Given the description of an element on the screen output the (x, y) to click on. 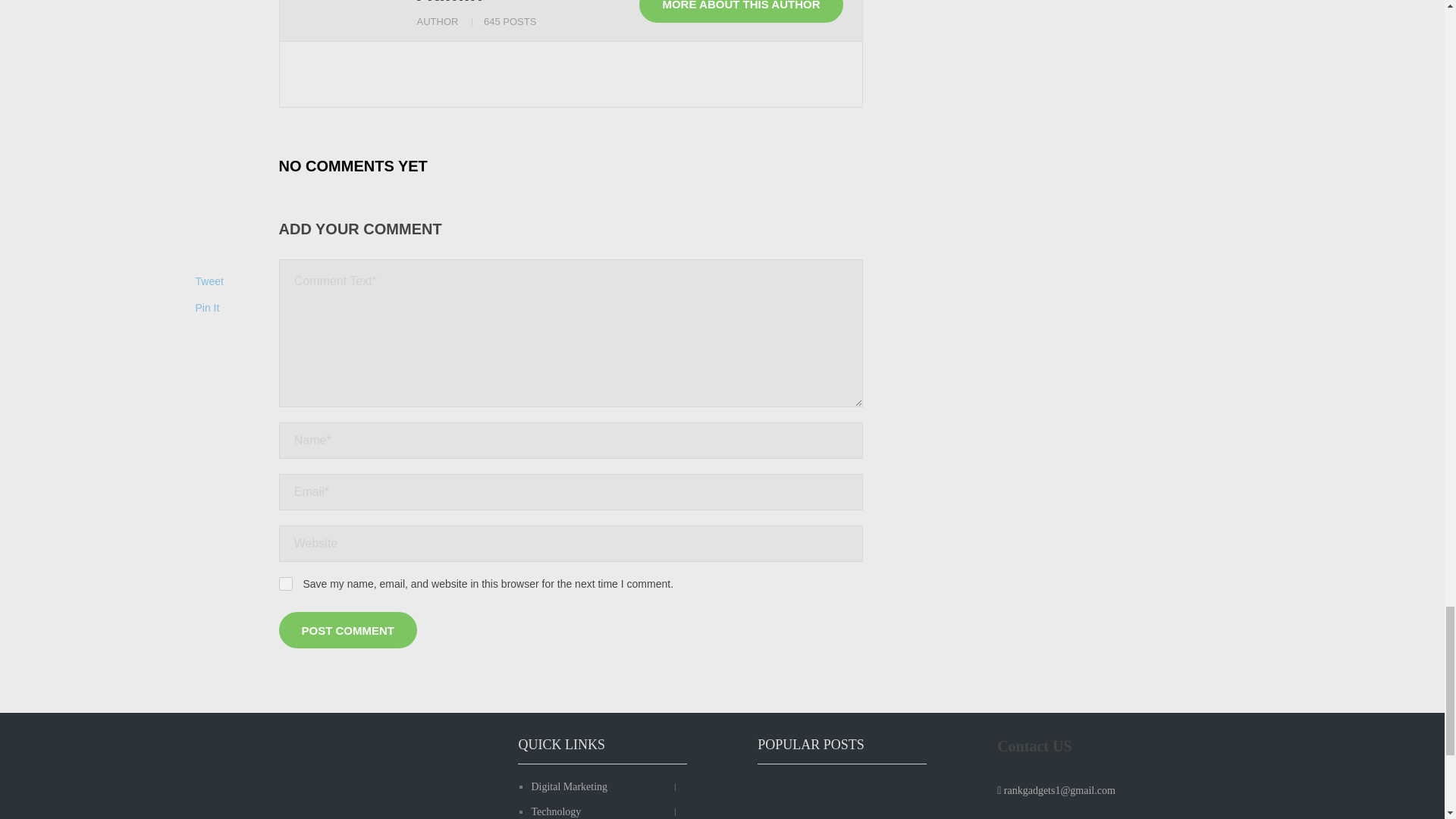
NO COMMENTS YET (353, 164)
Post Comment (348, 629)
MORE ABOUT THIS AUTHOR (741, 11)
Post Comment (348, 629)
yes (285, 583)
645 POSTS (509, 21)
Admin (449, 2)
